Given the description of an element on the screen output the (x, y) to click on. 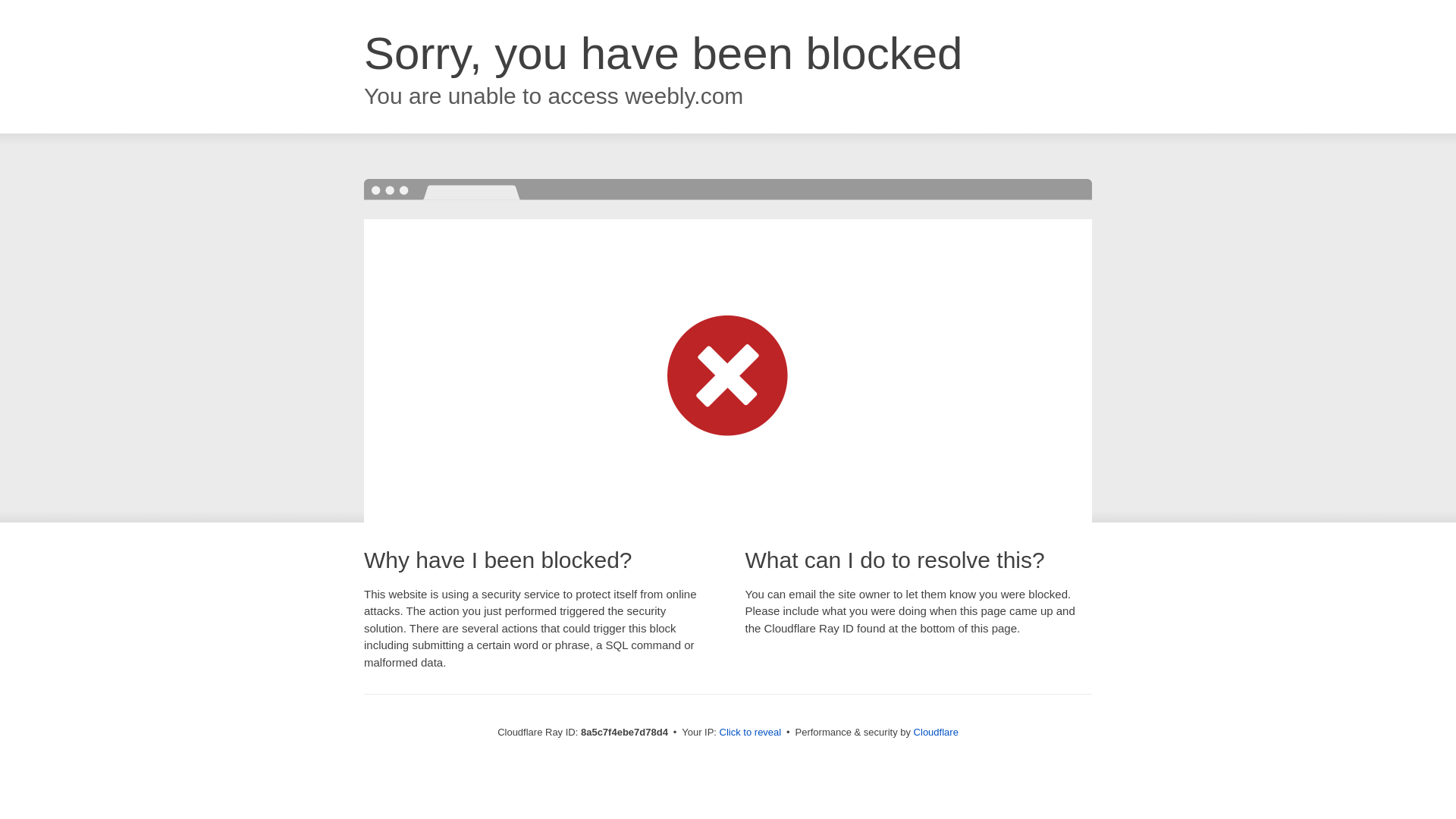
Cloudflare (936, 731)
Click to reveal (750, 732)
